Given the description of an element on the screen output the (x, y) to click on. 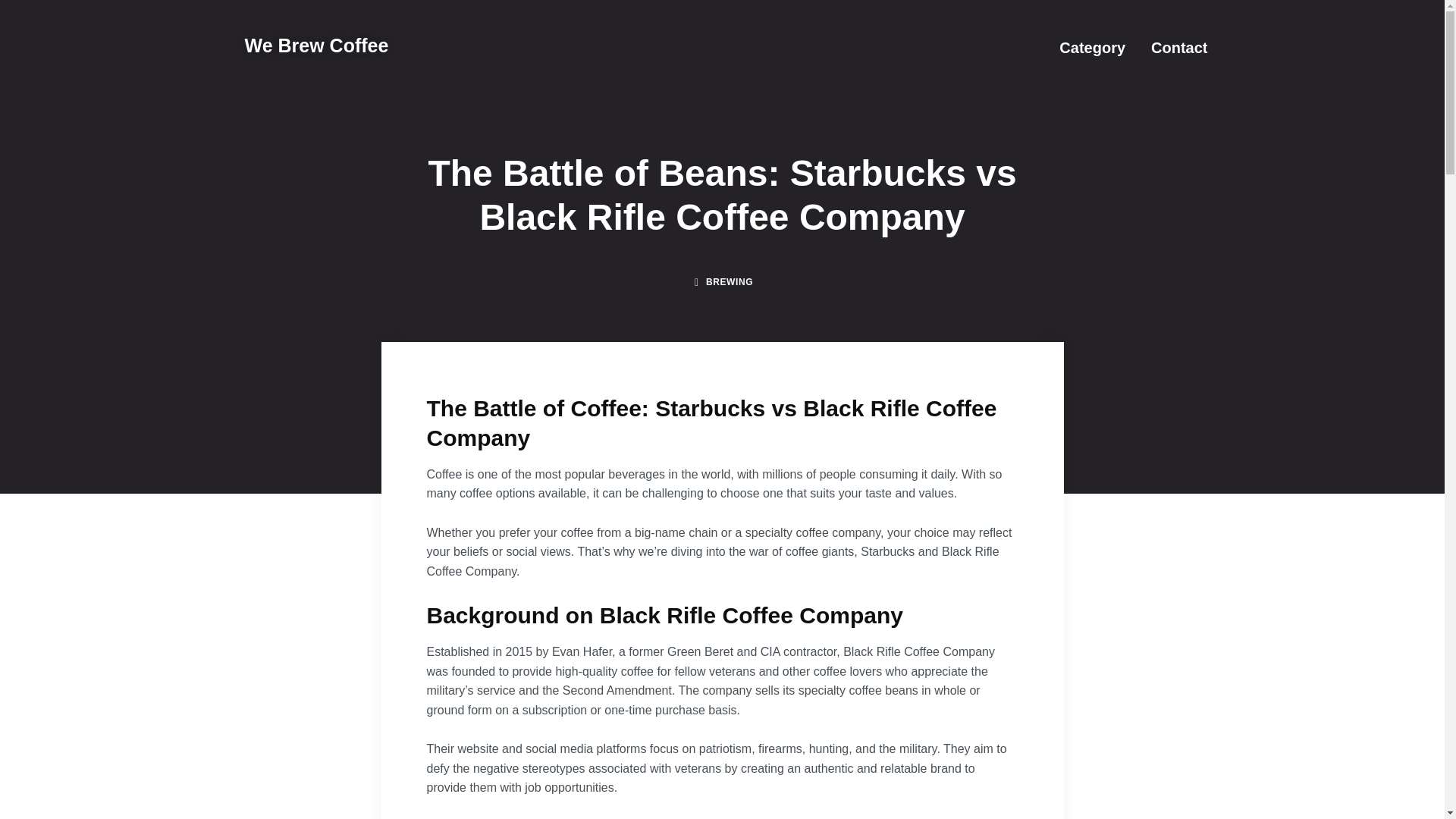
Contact (1179, 47)
Category (1092, 47)
BREWING (729, 281)
We Brew Coffee (316, 45)
